Given the description of an element on the screen output the (x, y) to click on. 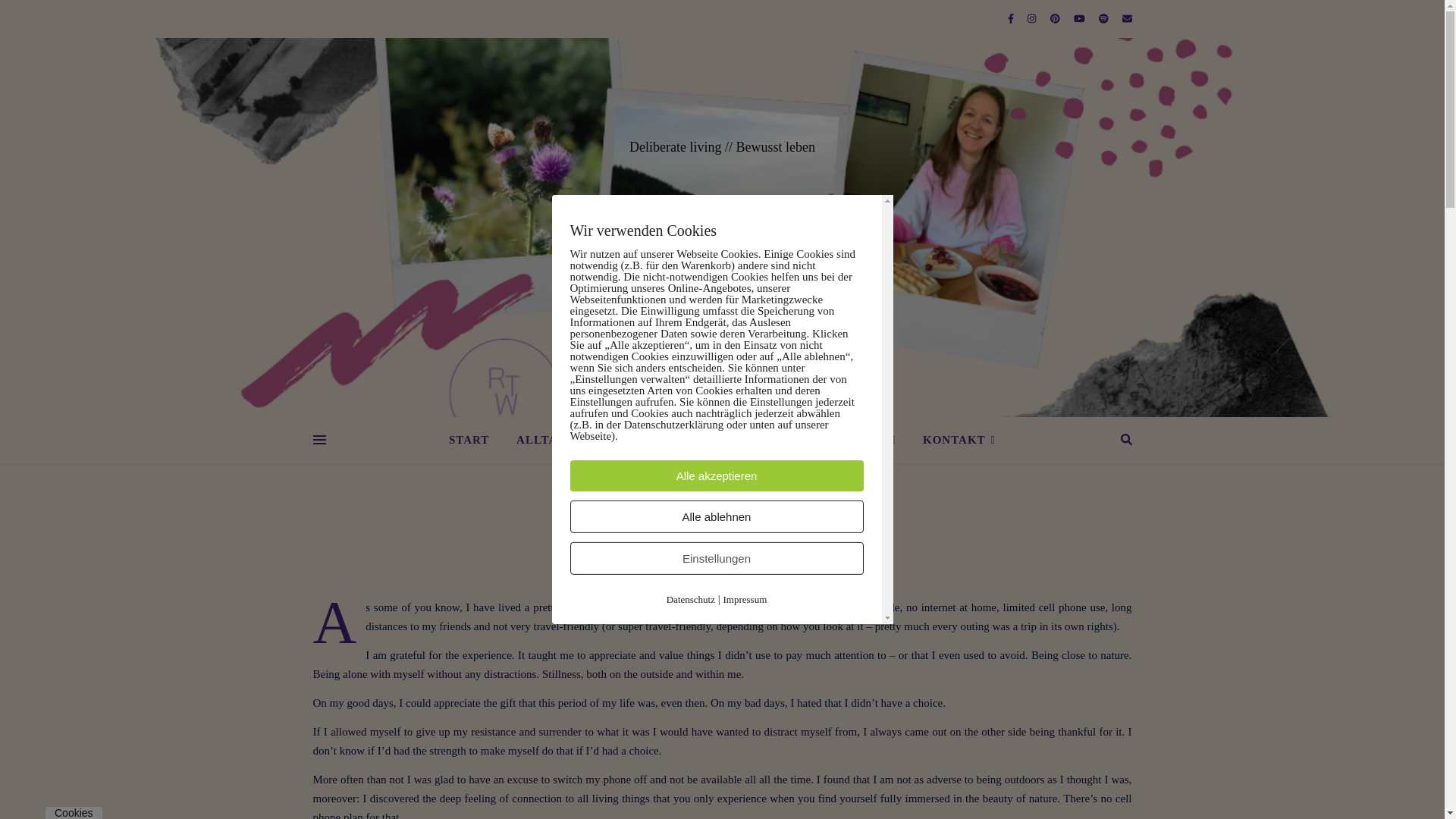
ALLTAG (541, 439)
KONTAKT (953, 439)
ORTE (715, 439)
START (474, 439)
GEDANKEN (630, 439)
REZEPTE (793, 439)
